Given the description of an element on the screen output the (x, y) to click on. 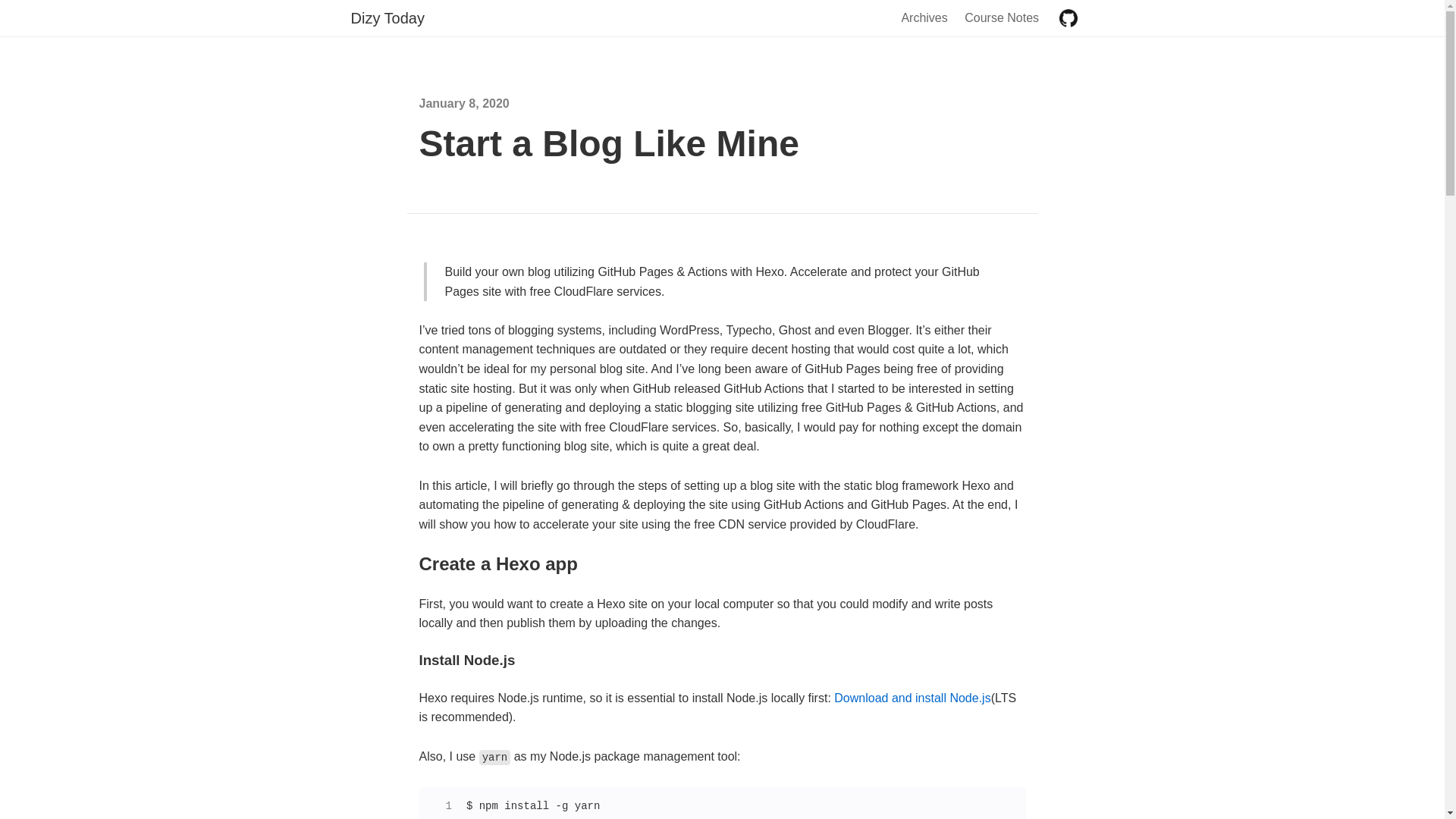
Course Notes Element type: text (1001, 18)
Dizy Today Element type: text (386, 18)
Download and install Node.js Element type: text (912, 697)
  Element type: text (1067, 18)
Archives Element type: text (923, 18)
